Given the description of an element on the screen output the (x, y) to click on. 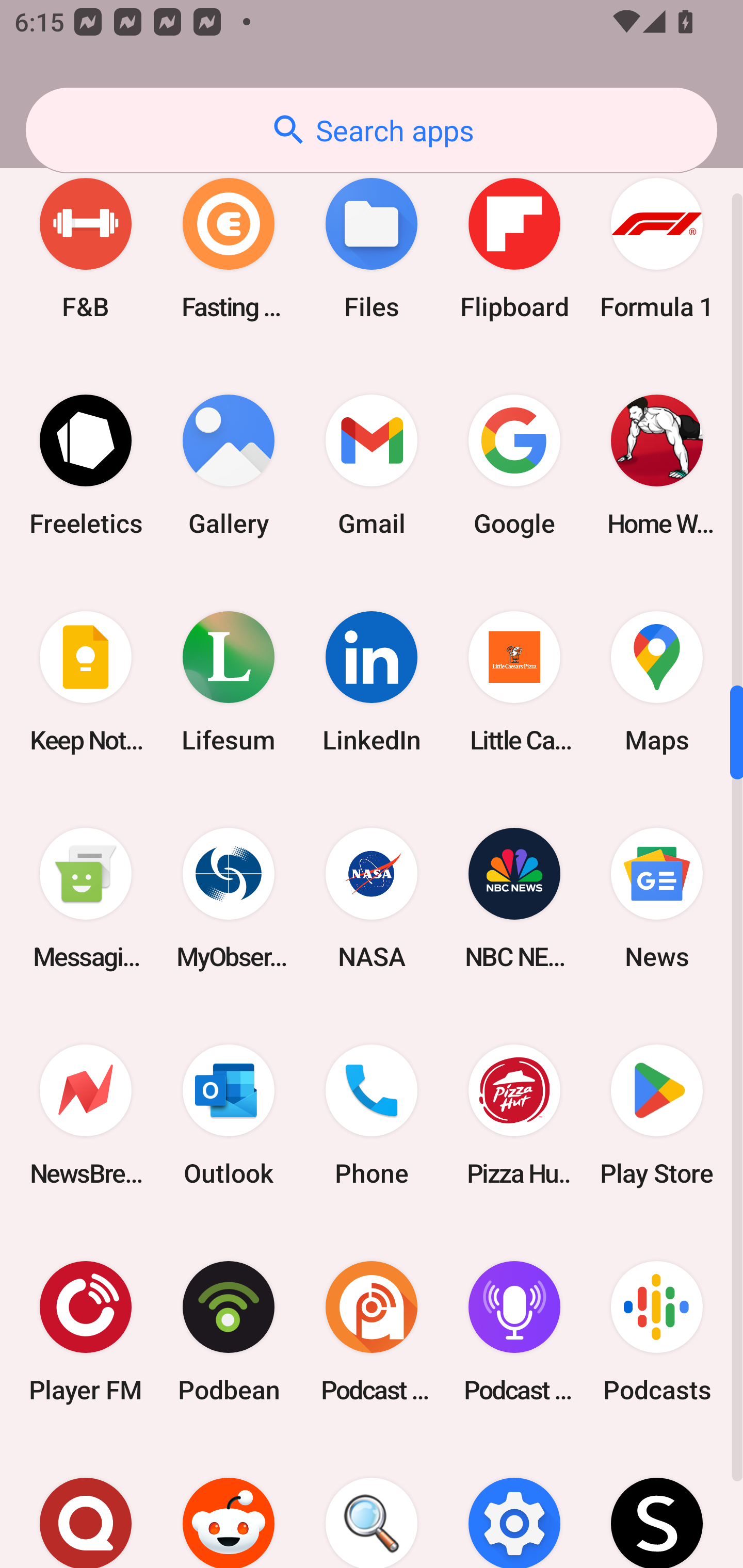
  Search apps (371, 130)
F&B (85, 248)
Fasting Coach (228, 248)
Files (371, 248)
Flipboard (514, 248)
Formula 1 (656, 248)
Freeletics (85, 465)
Gallery (228, 465)
Gmail (371, 465)
Google (514, 465)
Home Workout (656, 465)
Keep Notes (85, 681)
Lifesum (228, 681)
LinkedIn (371, 681)
Little Caesars Pizza (514, 681)
Maps (656, 681)
Messaging (85, 898)
MyObservatory (228, 898)
NASA (371, 898)
NBC NEWS (514, 898)
News (656, 898)
NewsBreak (85, 1114)
Outlook (228, 1114)
Phone (371, 1114)
Pizza Hut HK & Macau (514, 1114)
Play Store (656, 1114)
Player FM (85, 1331)
Podbean (228, 1331)
Podcast Addict (371, 1331)
Podcast Player (514, 1331)
Podcasts (656, 1331)
Quora (85, 1503)
Reddit (228, 1503)
Search (371, 1503)
Settings (514, 1503)
SHEIN (656, 1503)
